Given the description of an element on the screen output the (x, y) to click on. 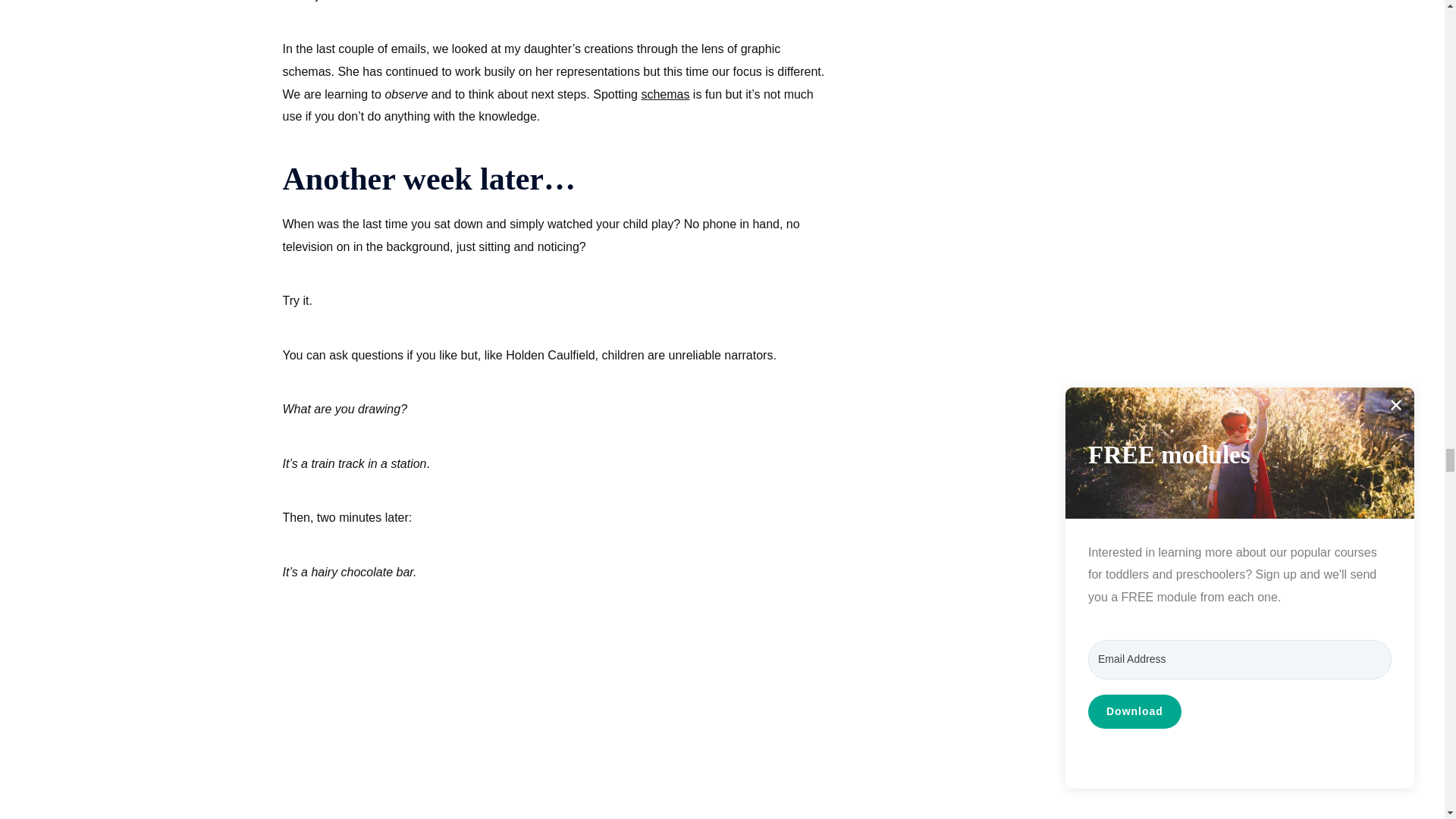
schemas (664, 93)
Schema play - an introduction to action schemas (664, 93)
